Given the description of an element on the screen output the (x, y) to click on. 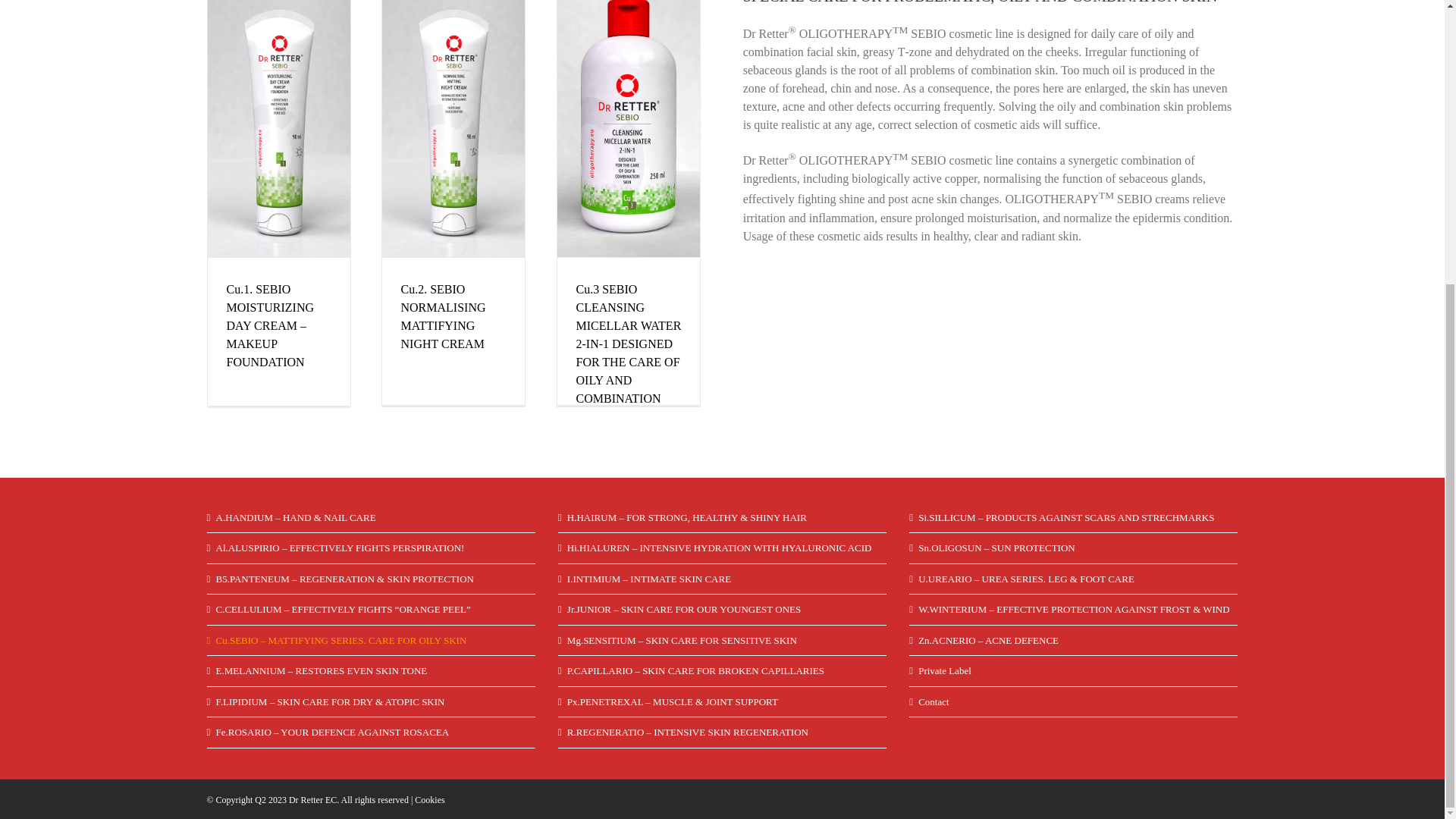
Cu.2. SEBIO NORMALISING MATTIFYING NIGHT CREAM (442, 316)
